Given the description of an element on the screen output the (x, y) to click on. 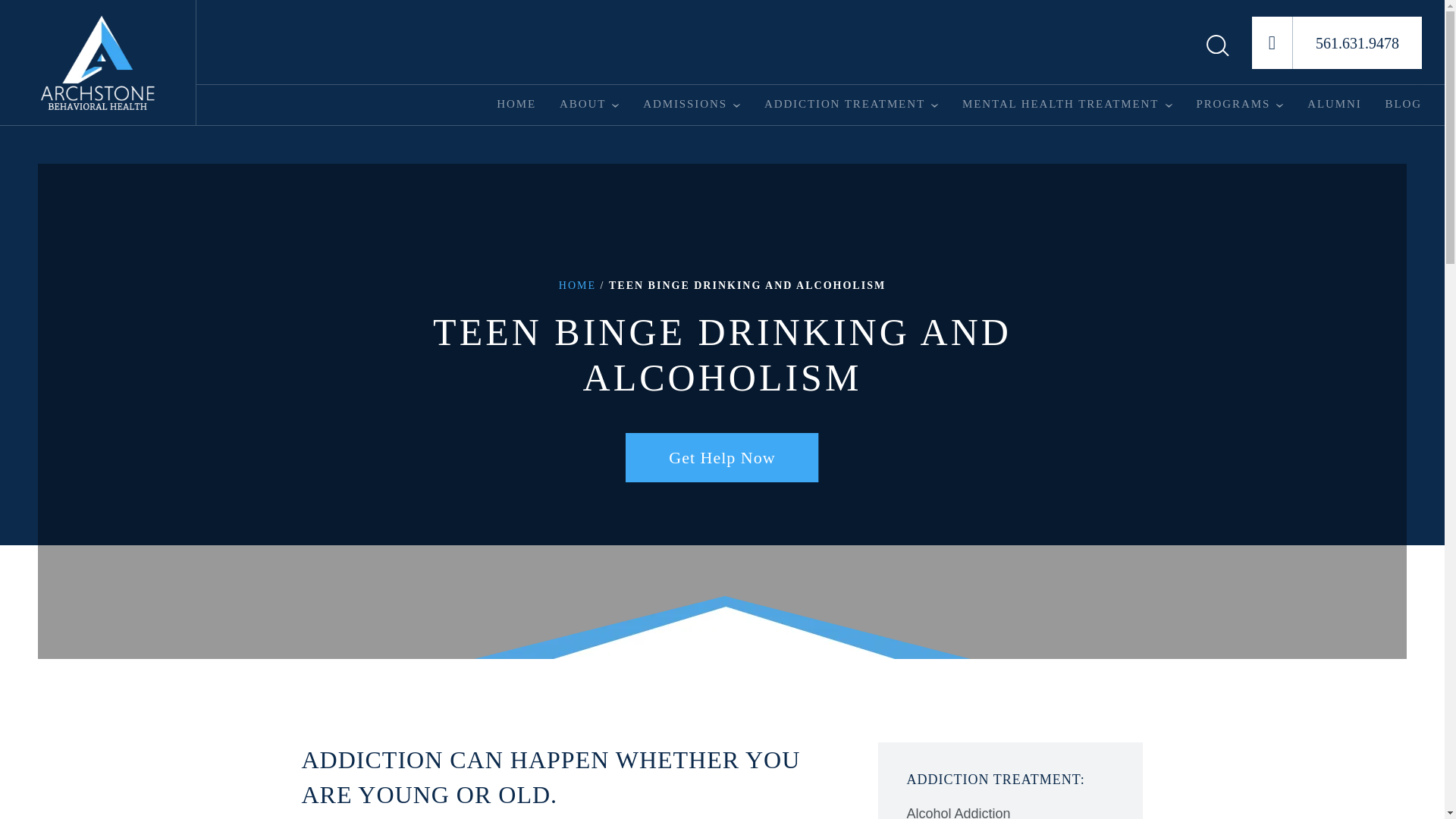
MENTAL HEALTH TREATMENT (1060, 103)
ADMISSIONS (684, 103)
HOME (515, 103)
561.631.9478 (1337, 42)
ADDICTION TREATMENT (844, 103)
ABOUT (582, 103)
PROGRAMS (1232, 103)
